Given the description of an element on the screen output the (x, y) to click on. 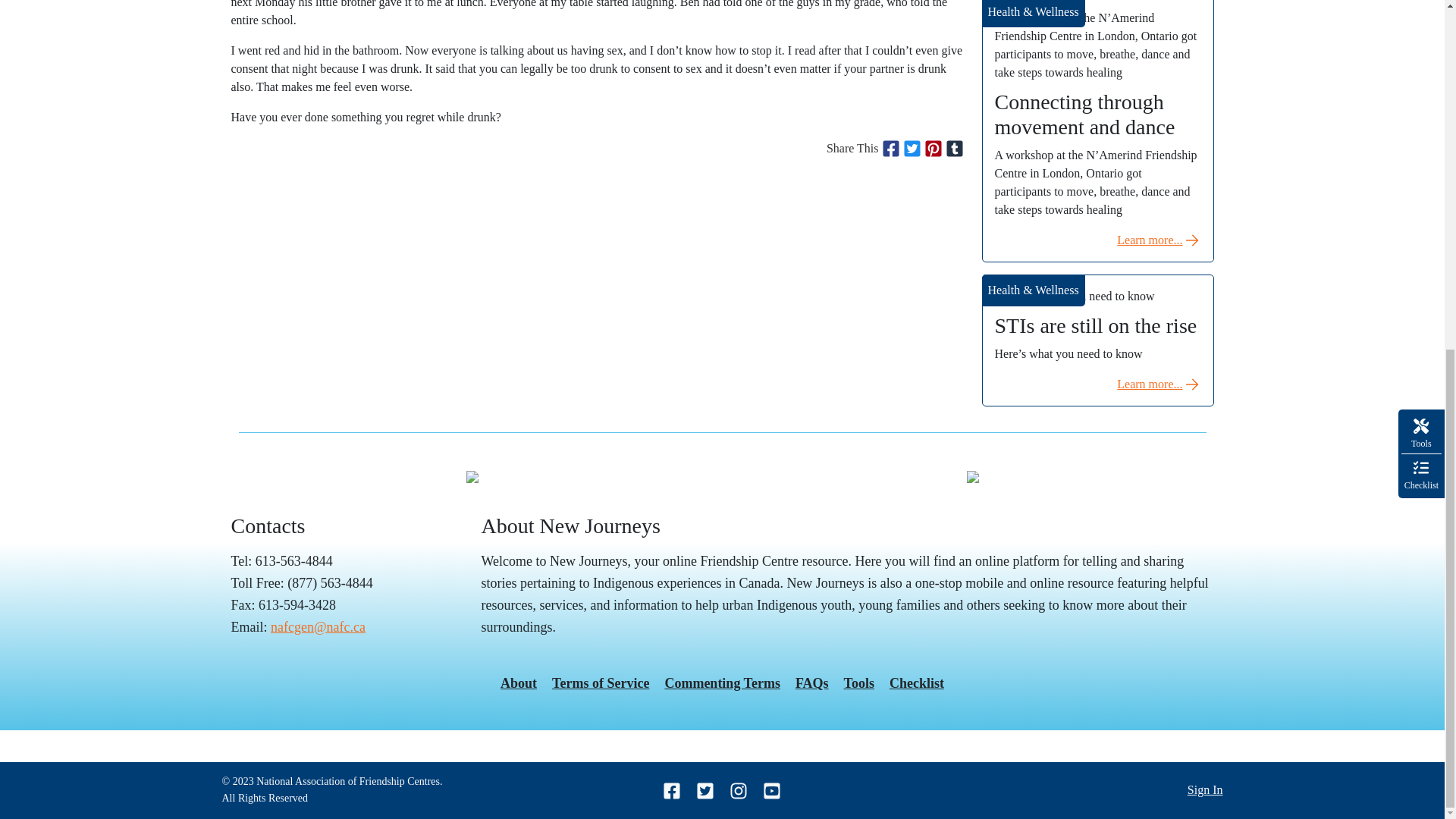
Join us on Facebook (671, 790)
Follow us on Instagram (738, 790)
Follow us on Youtube (771, 790)
Follow us on Twitter (704, 790)
